Given the description of an element on the screen output the (x, y) to click on. 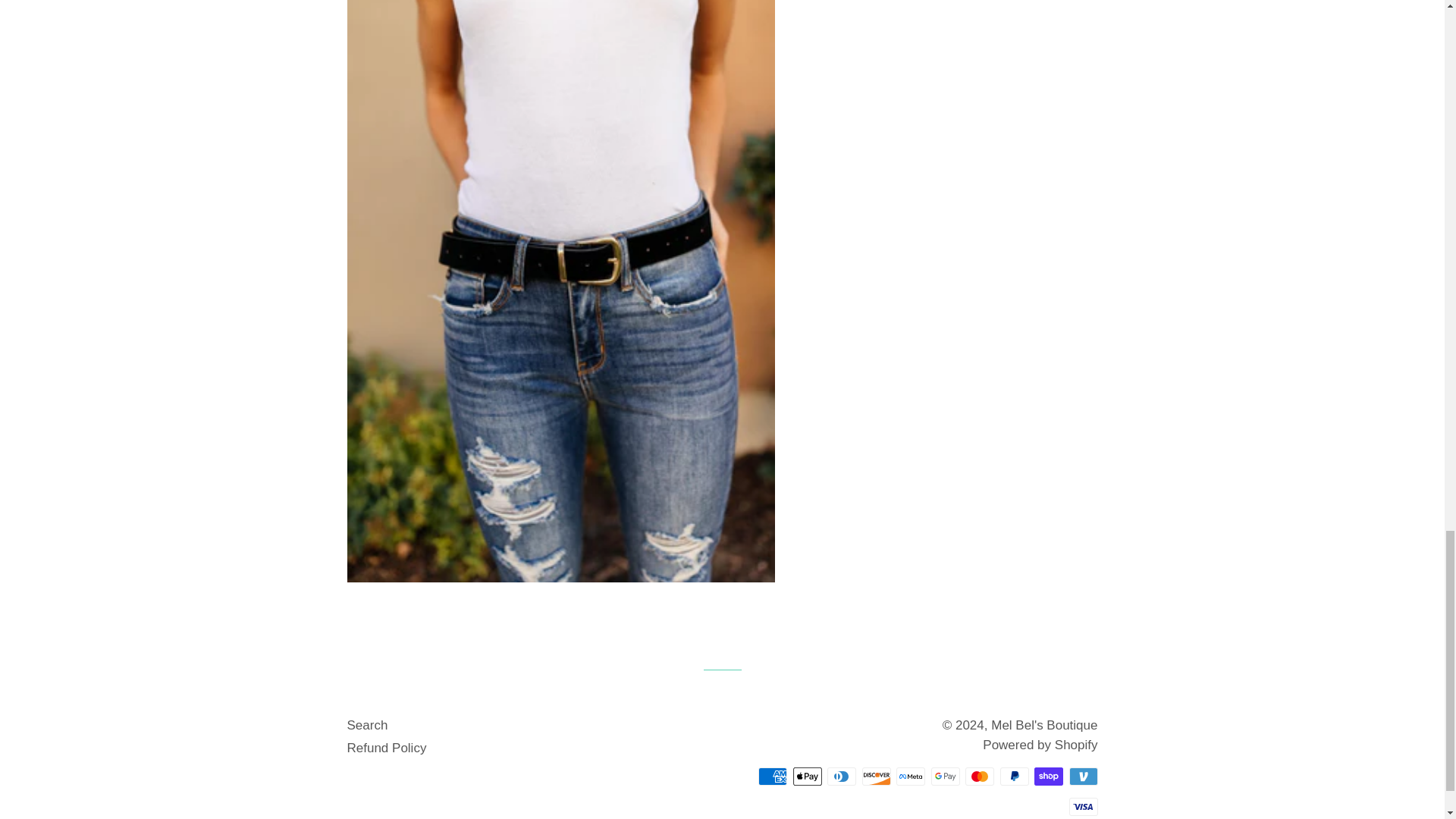
Diners Club (841, 776)
Google Pay (945, 776)
American Express (772, 776)
Discover (875, 776)
Mel Bel's Boutique (1044, 725)
Shop Pay (1047, 776)
Powered by Shopify (1039, 744)
Meta Pay (910, 776)
Visa (1082, 806)
PayPal (1012, 776)
Search (367, 725)
Mastercard (979, 776)
Refund Policy (386, 748)
Apple Pay (807, 776)
Venmo (1082, 776)
